Given the description of an element on the screen output the (x, y) to click on. 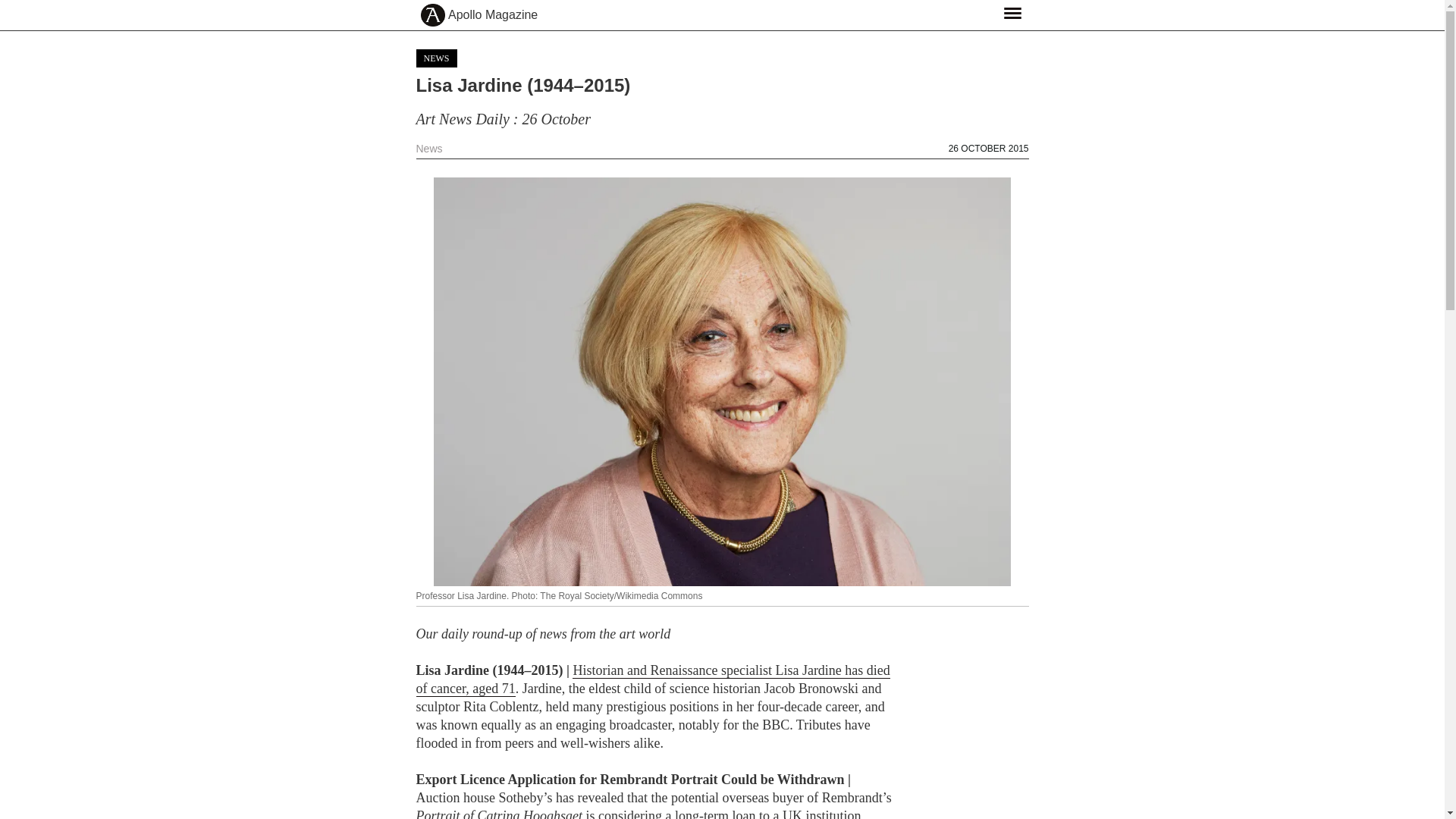
Nav toggle (1012, 12)
Apollo Magazine (492, 15)
Nav toggle (1012, 12)
